Given the description of an element on the screen output the (x, y) to click on. 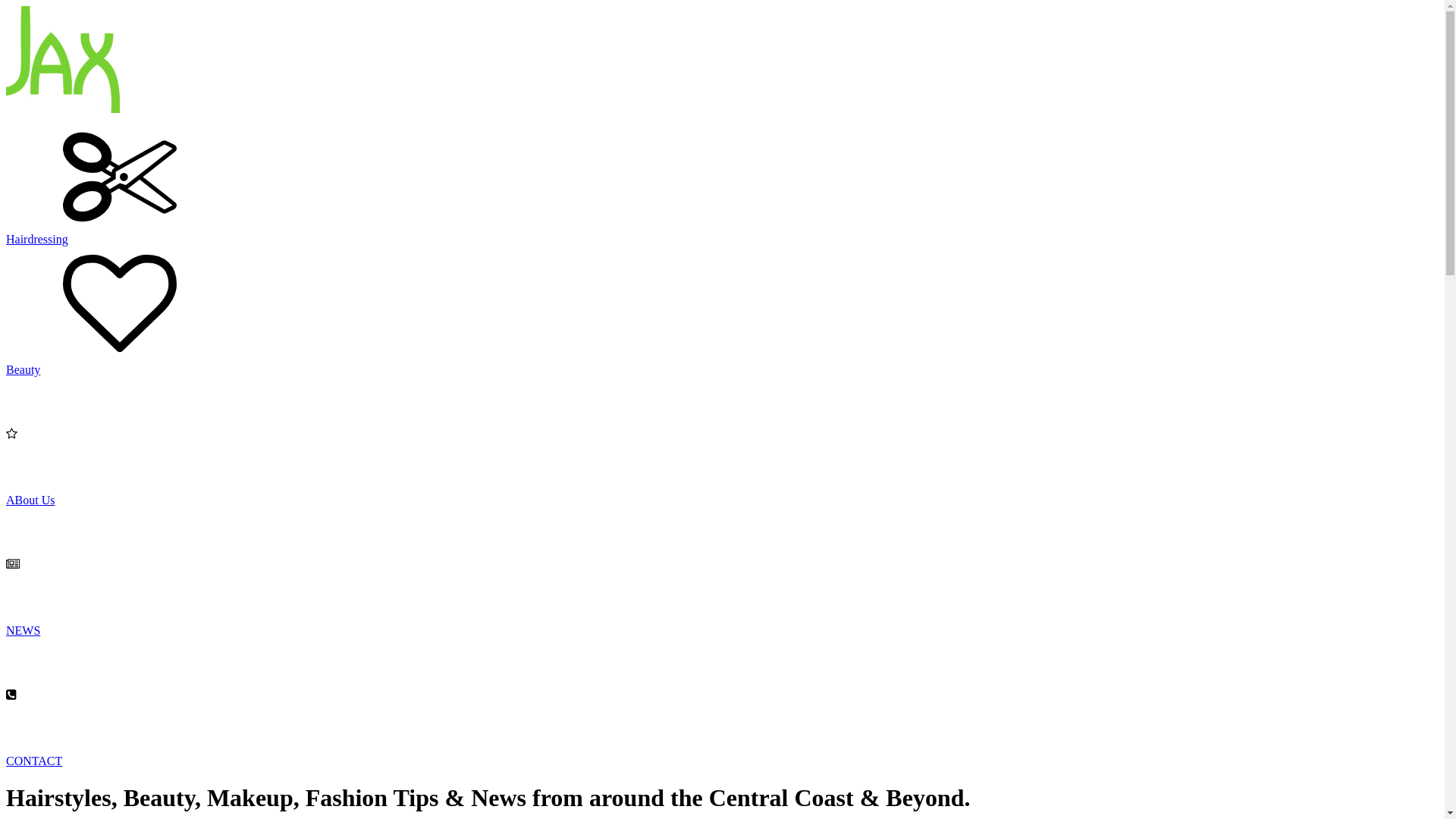
CONTACT Element type: text (722, 754)
Beauty Element type: text (722, 420)
Hairdressing Element type: text (722, 290)
NEWS Element type: text (722, 681)
ABout Us Element type: text (722, 551)
